Given the description of an element on the screen output the (x, y) to click on. 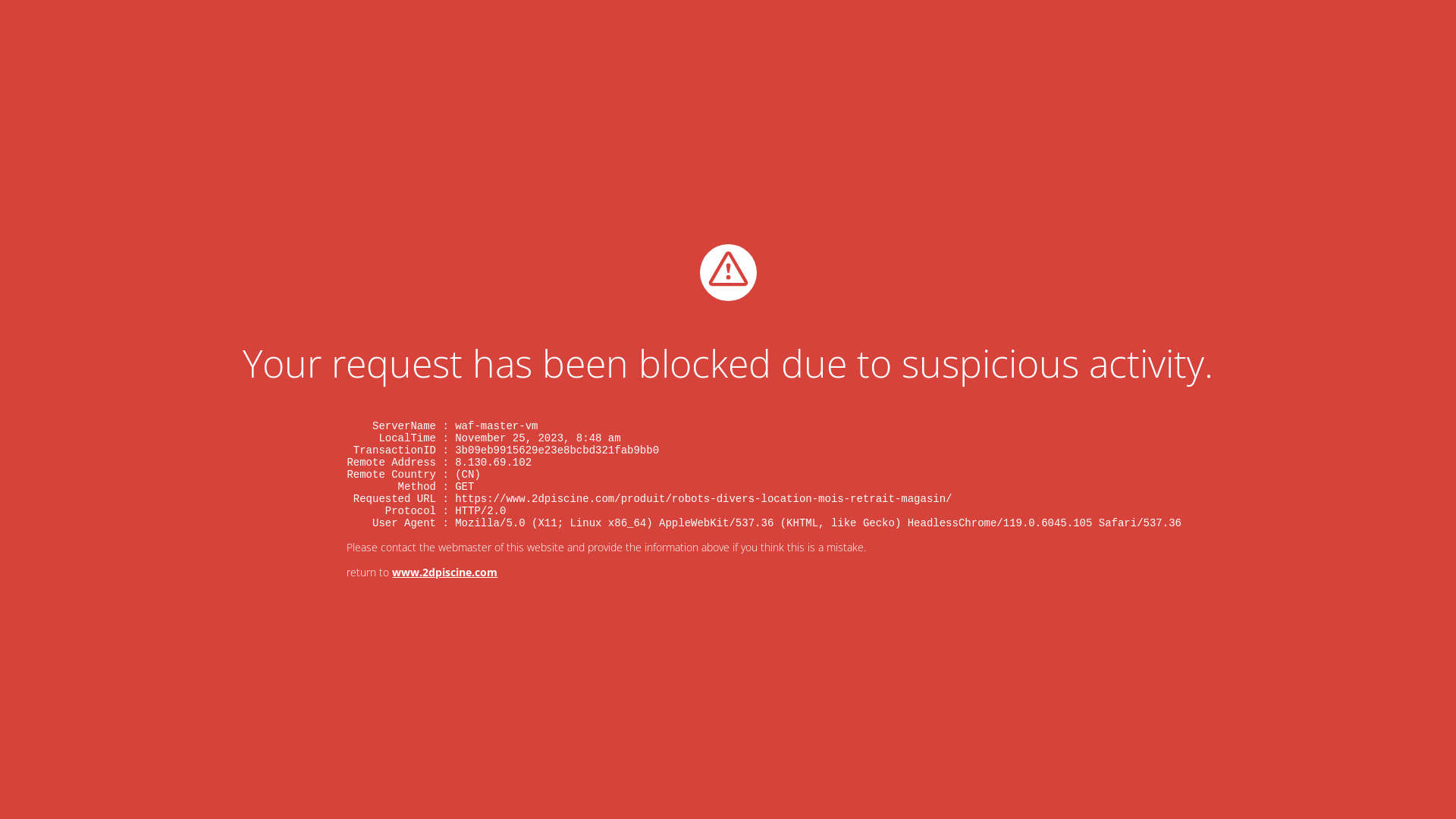
www.2dpiscine.com Element type: text (444, 571)
